Given the description of an element on the screen output the (x, y) to click on. 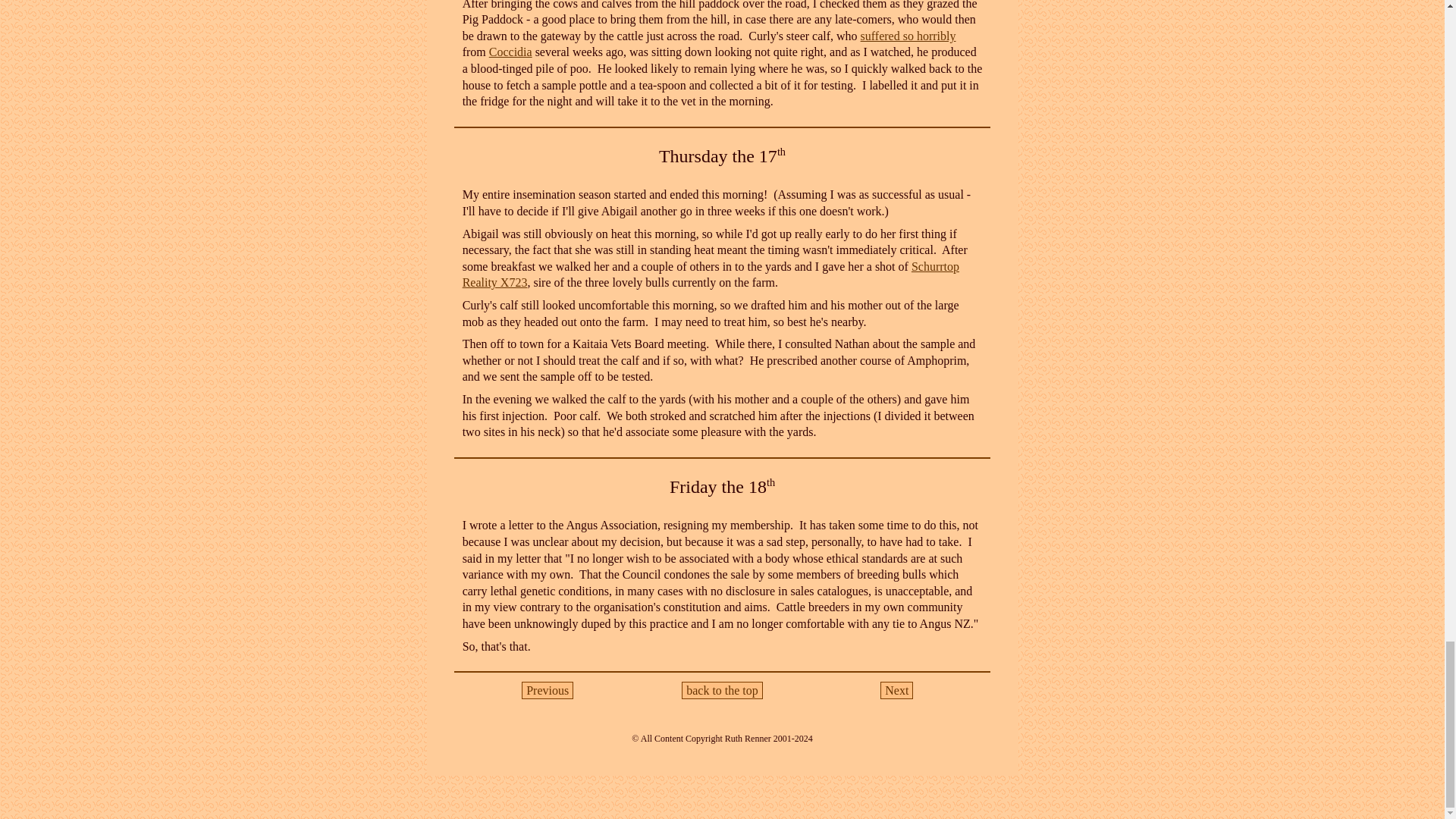
Coccidia (510, 51)
5th of March (547, 689)
suffered so horribly (908, 35)
Next (896, 689)
19th of March (896, 689)
back to the top (721, 689)
Previous (547, 689)
Schurrtop Reality X723 (711, 274)
